Given the description of an element on the screen output the (x, y) to click on. 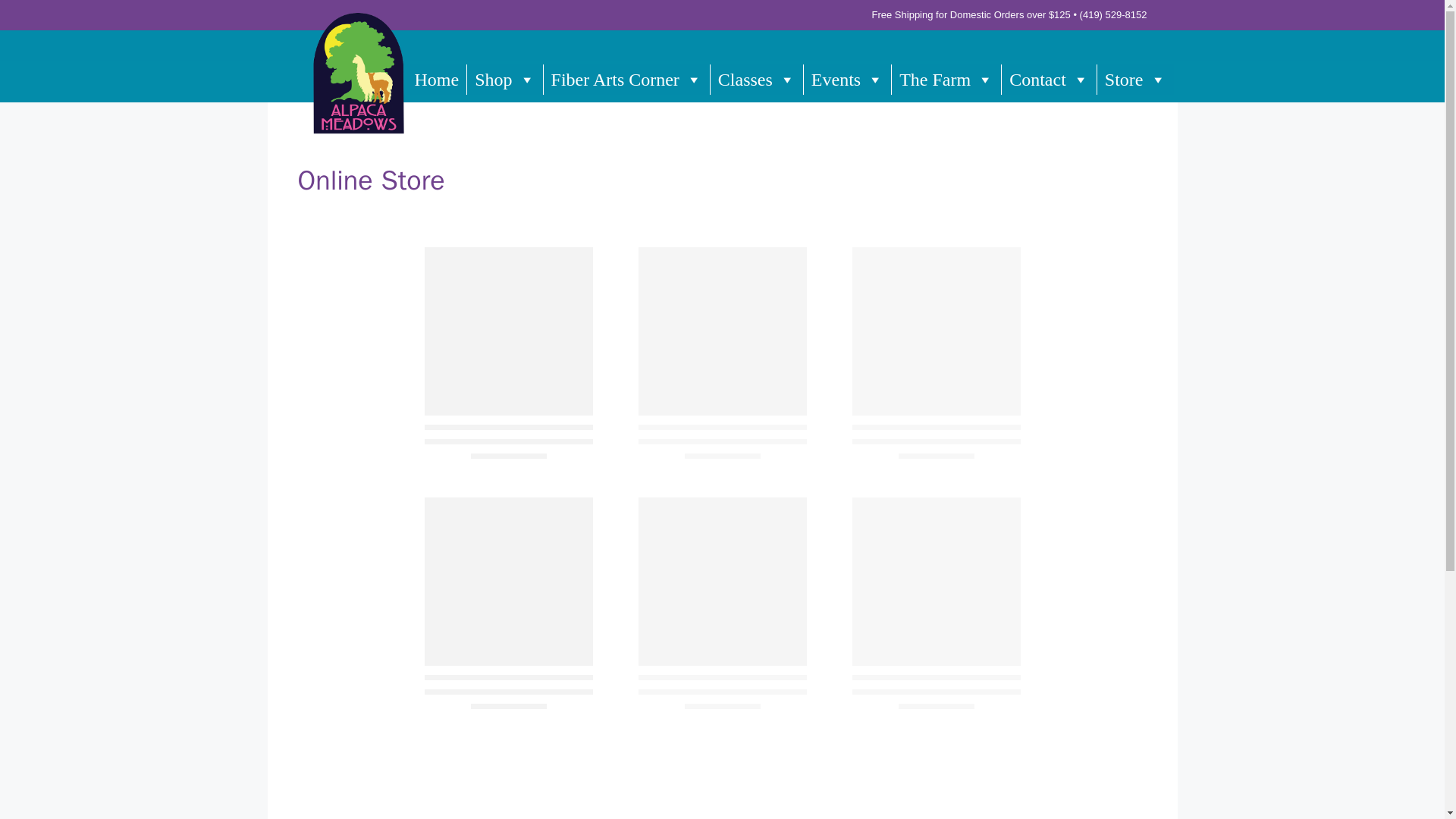
Alpaca Meadows Unique Gifts (504, 78)
Home (437, 78)
Fiber Arts Corner (626, 78)
Alpaca Meadows Fiber Art Supplies (626, 78)
Alpaca Meadows Fiber Art Classes (756, 78)
Explore the Farm and Visit Our Alpacas  (946, 78)
Shop (504, 78)
Alpaca Meadows Year Round Events (847, 78)
